Given the description of an element on the screen output the (x, y) to click on. 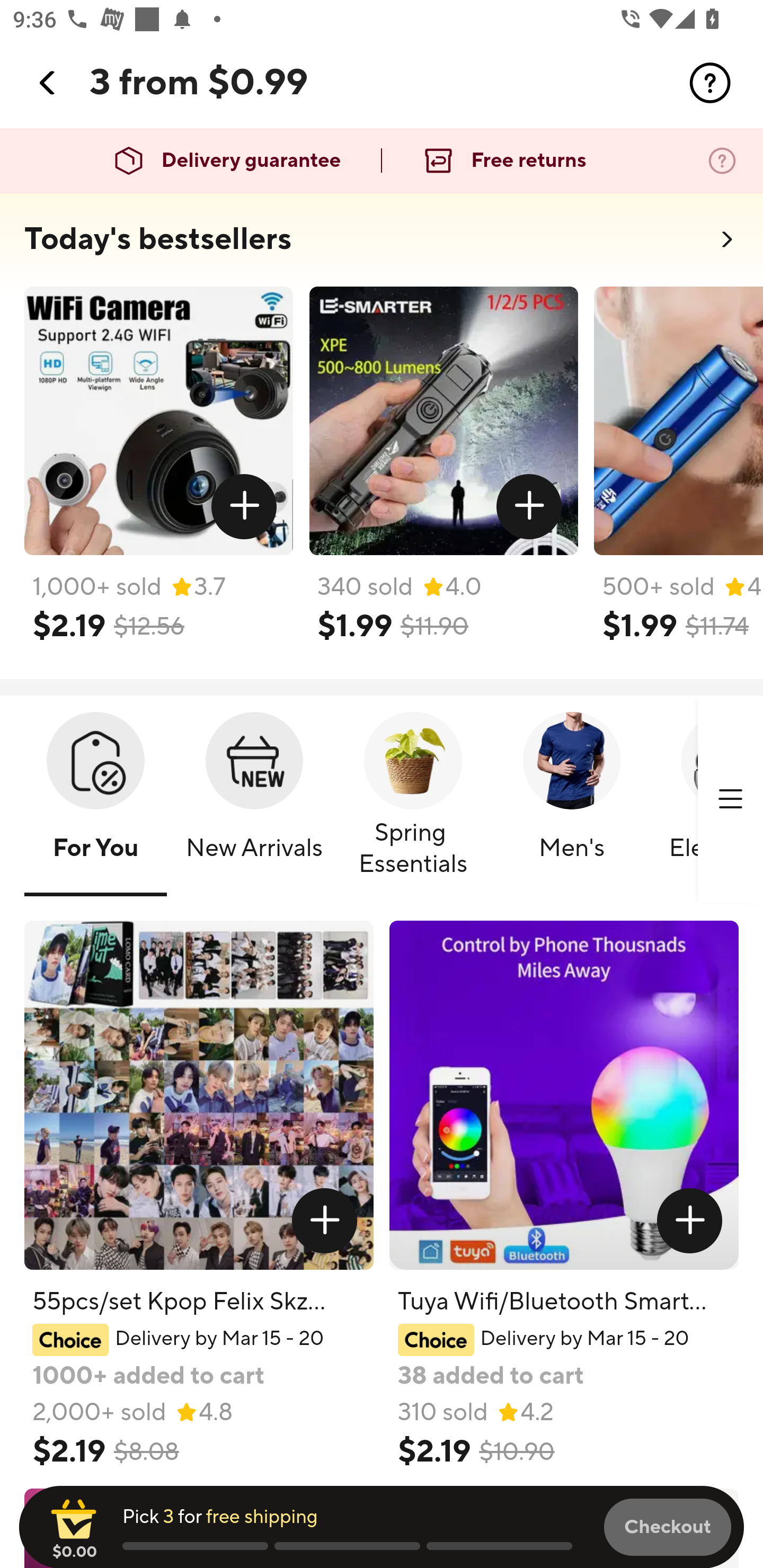
 (710, 82)
 (48, 82)
Today's bestsellers  Today's bestsellers  (381, 244)
Today's bestsellers (157, 239)
 (244, 506)
 (529, 506)
 (730, 799)
144x144.png_ For You (95, 800)
144x144.png_ New Arrivals (254, 800)
200x200.png_ Spring Essentials (412, 800)
200x200.png_ Men's (571, 800)
 (323, 1220)
 (689, 1220)
